Given the description of an element on the screen output the (x, y) to click on. 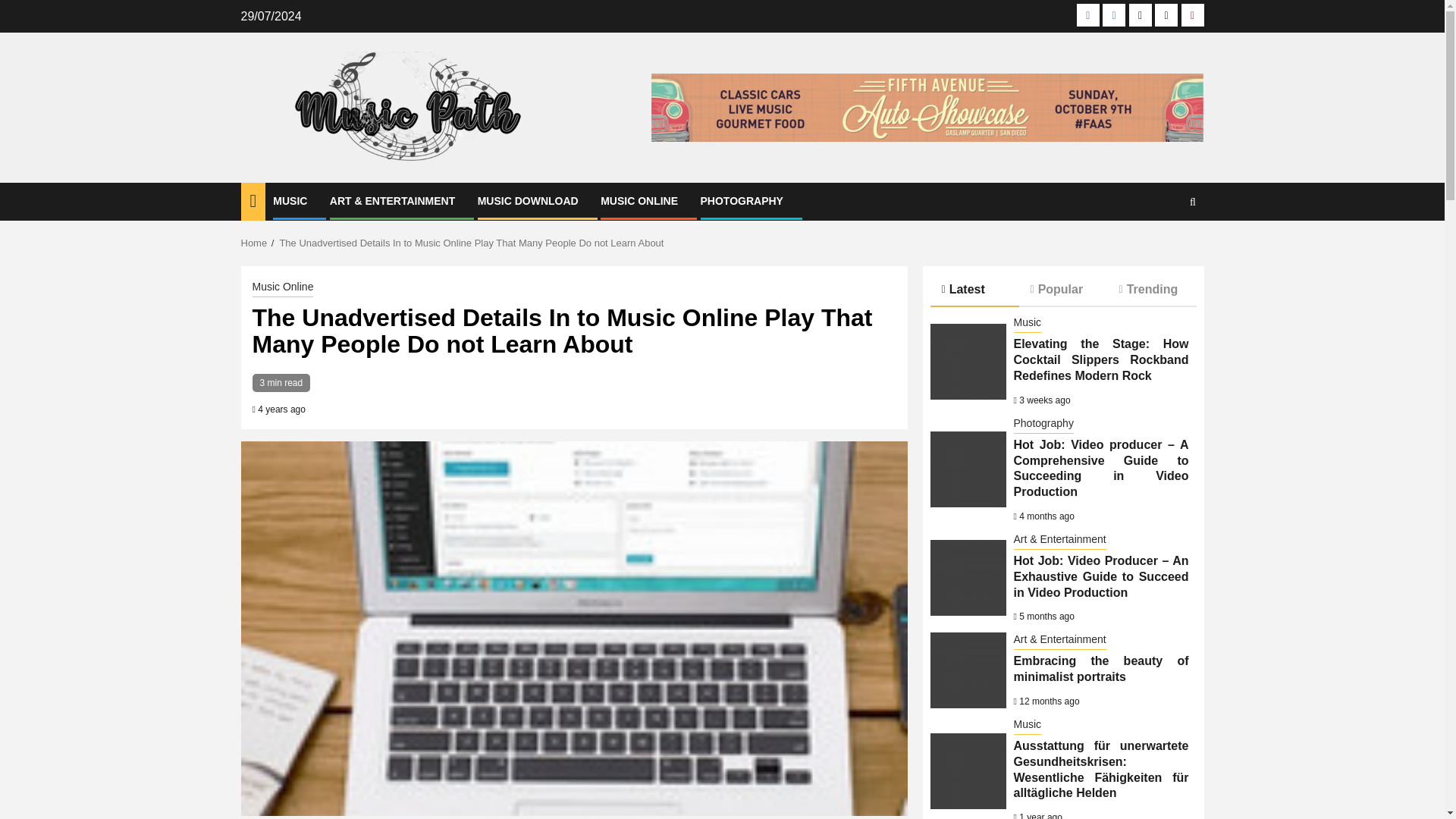
Twitter (1140, 15)
Latest (973, 289)
Popular (1063, 288)
TikTok (1165, 15)
MUSIC DOWNLOAD (527, 200)
Embracing the beauty of minimalist portraits 13 (968, 670)
Instagram (1113, 15)
Search (1163, 247)
MUSIC ONLINE (638, 200)
PHOTOGRAPHY (741, 200)
Facebook (1088, 15)
